Given the description of an element on the screen output the (x, y) to click on. 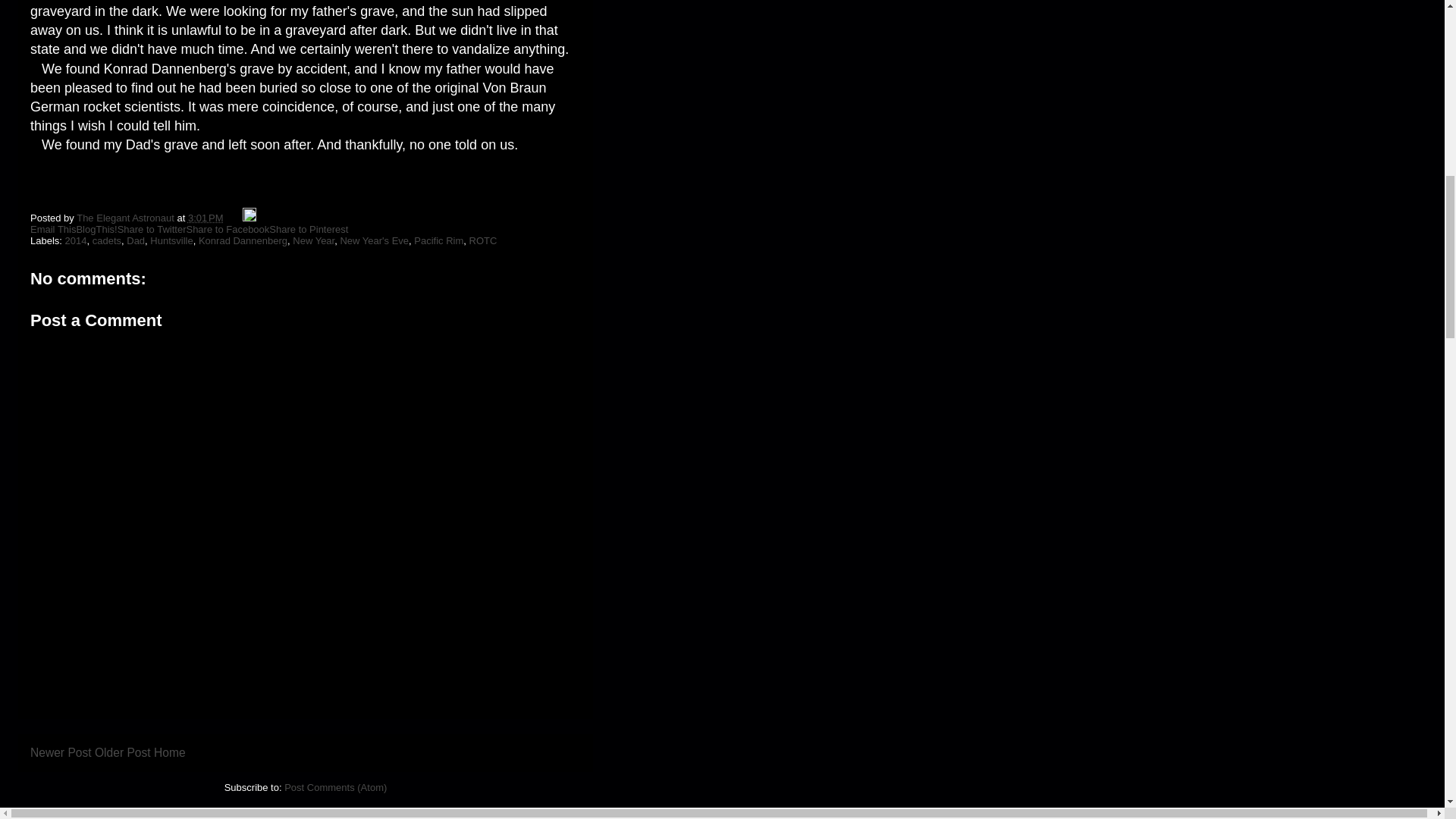
ROTC (482, 240)
New Year's Eve (374, 240)
Older Post (122, 752)
Share to Facebook (227, 229)
cadets (106, 240)
The Elegant Astronaut (126, 217)
Newer Post (60, 752)
Home (170, 752)
Huntsville (170, 240)
BlogThis! (95, 229)
Share to Twitter (151, 229)
Pacific Rim (438, 240)
Email This (52, 229)
Konrad Dannenberg (242, 240)
